Given the description of an element on the screen output the (x, y) to click on. 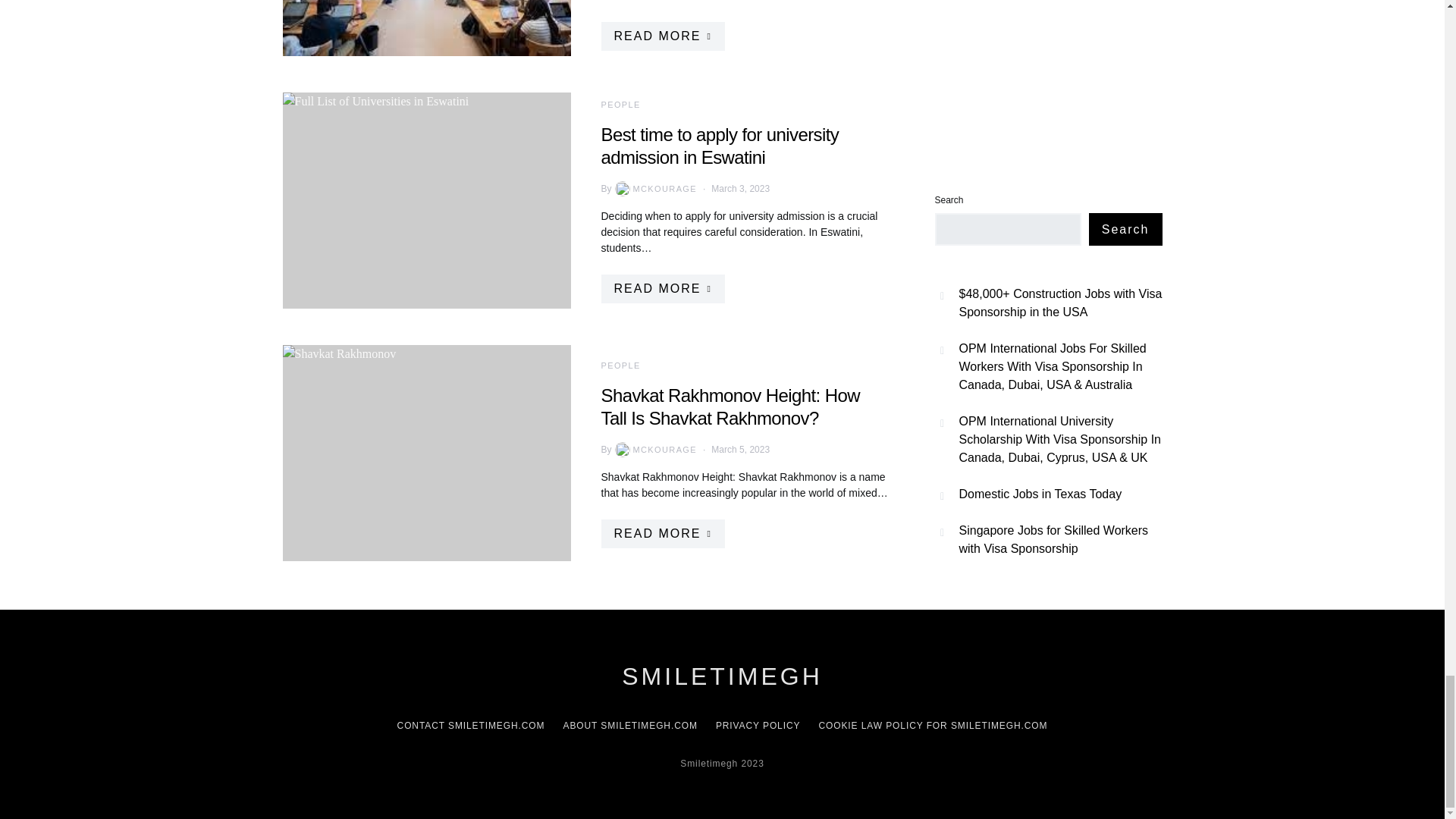
View all posts by Mckourage (654, 188)
PEOPLE (619, 103)
View all posts by Mckourage (654, 449)
READ MORE (661, 36)
